Given the description of an element on the screen output the (x, y) to click on. 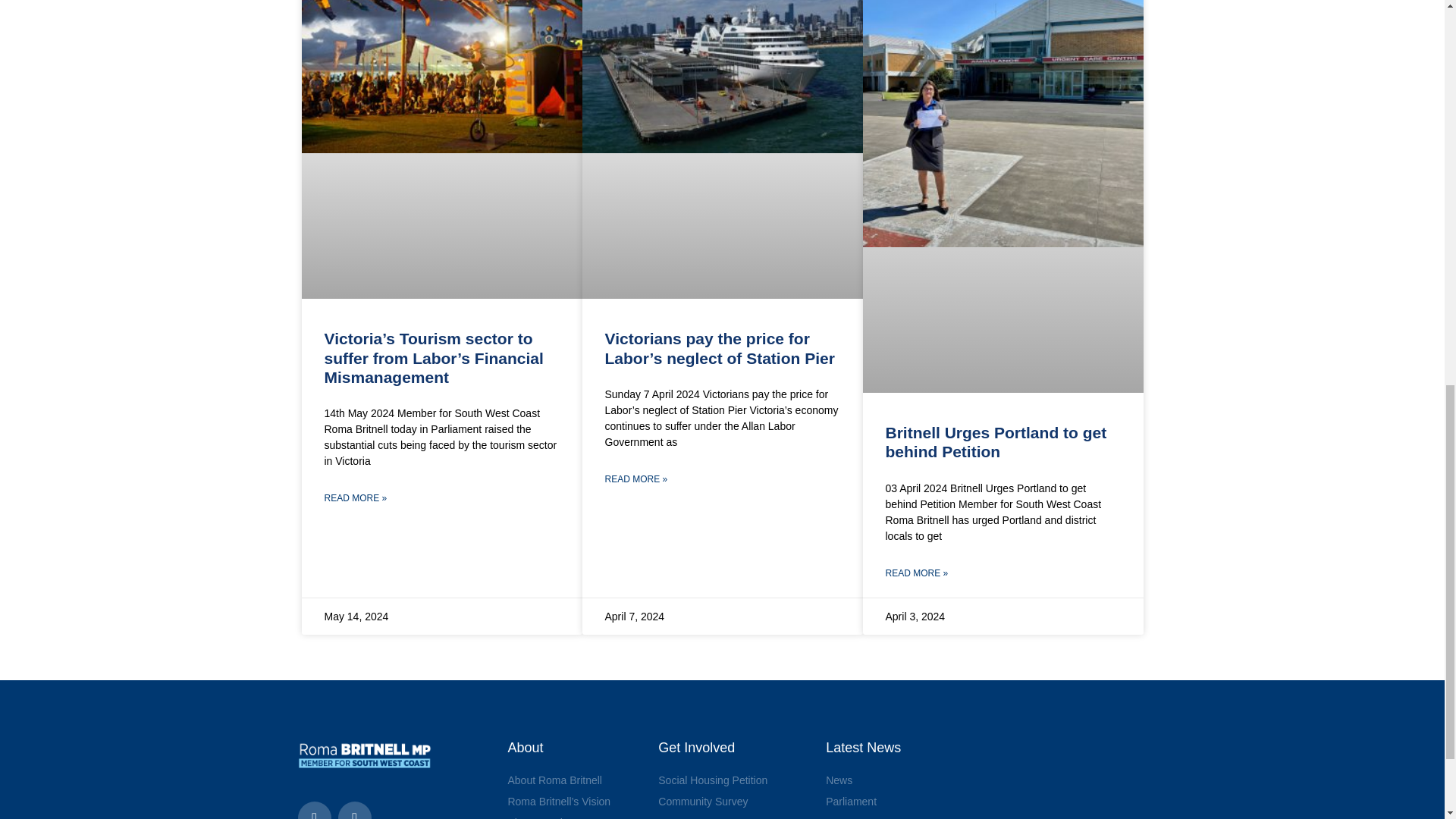
Britnell Urges Portland to get behind Petition (995, 442)
About Roma Britnell (574, 780)
